Given the description of an element on the screen output the (x, y) to click on. 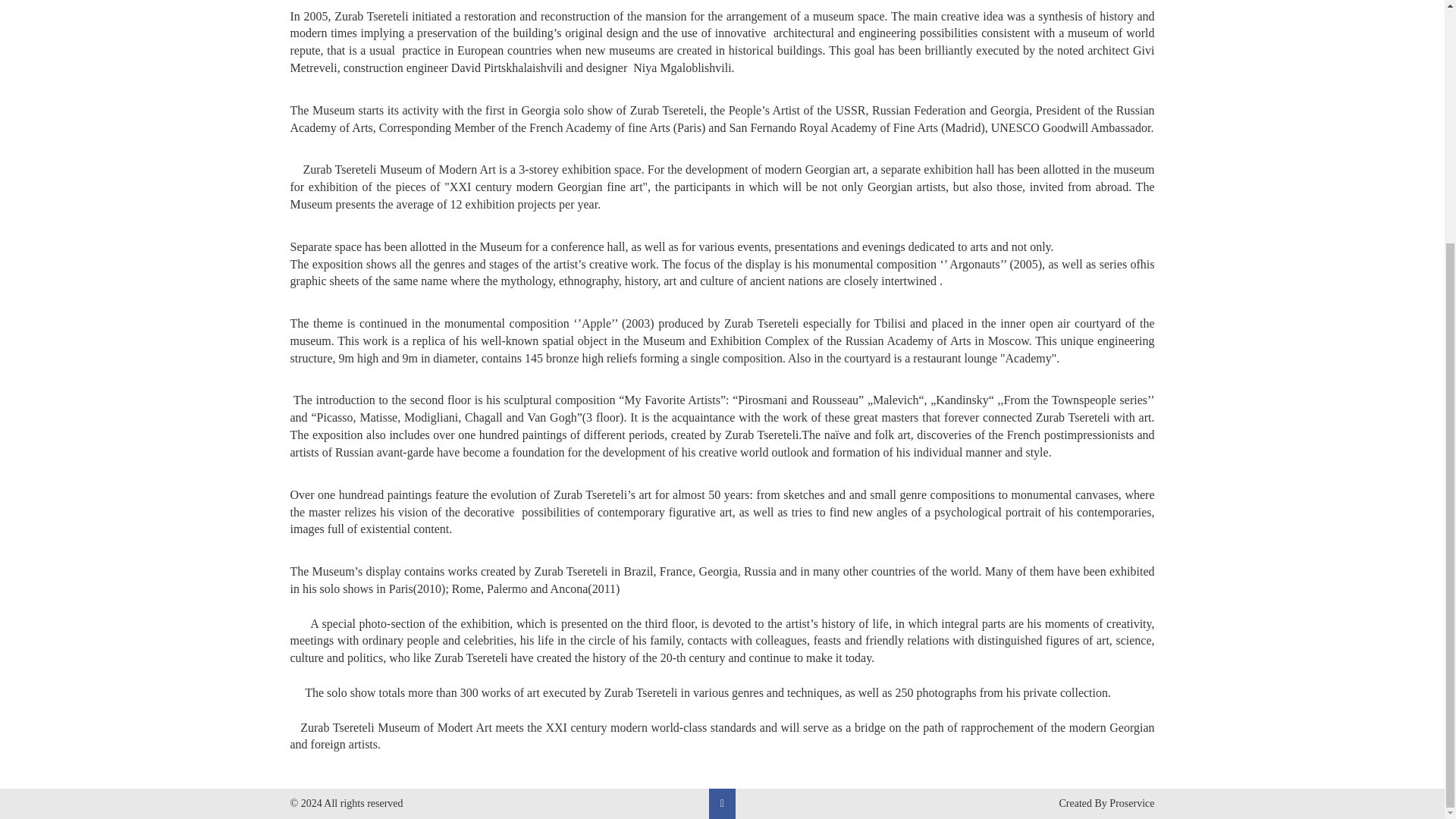
Proservice (1131, 803)
